Given the description of an element on the screen output the (x, y) to click on. 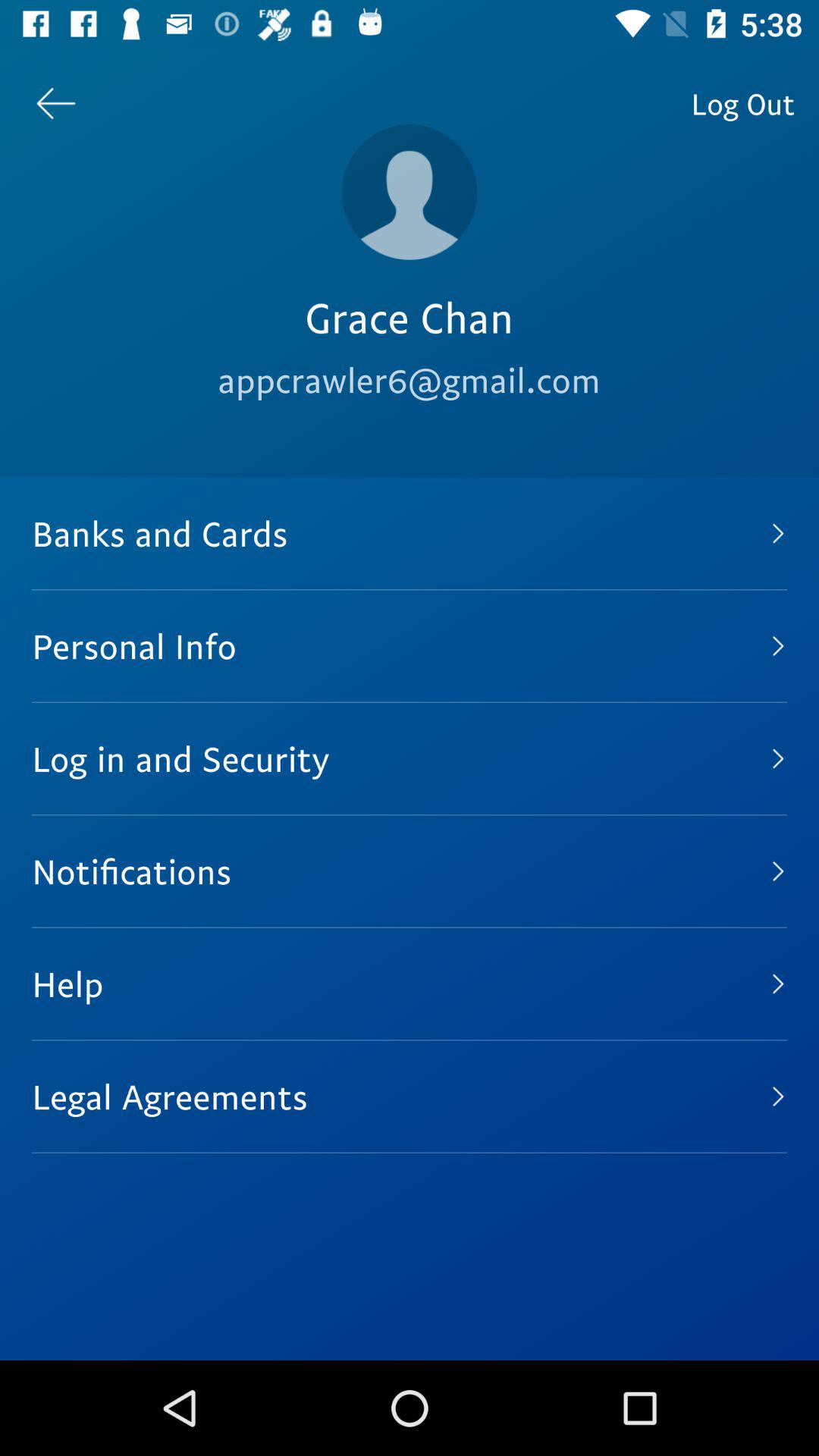
launch icon at the top left corner (55, 103)
